Given the description of an element on the screen output the (x, y) to click on. 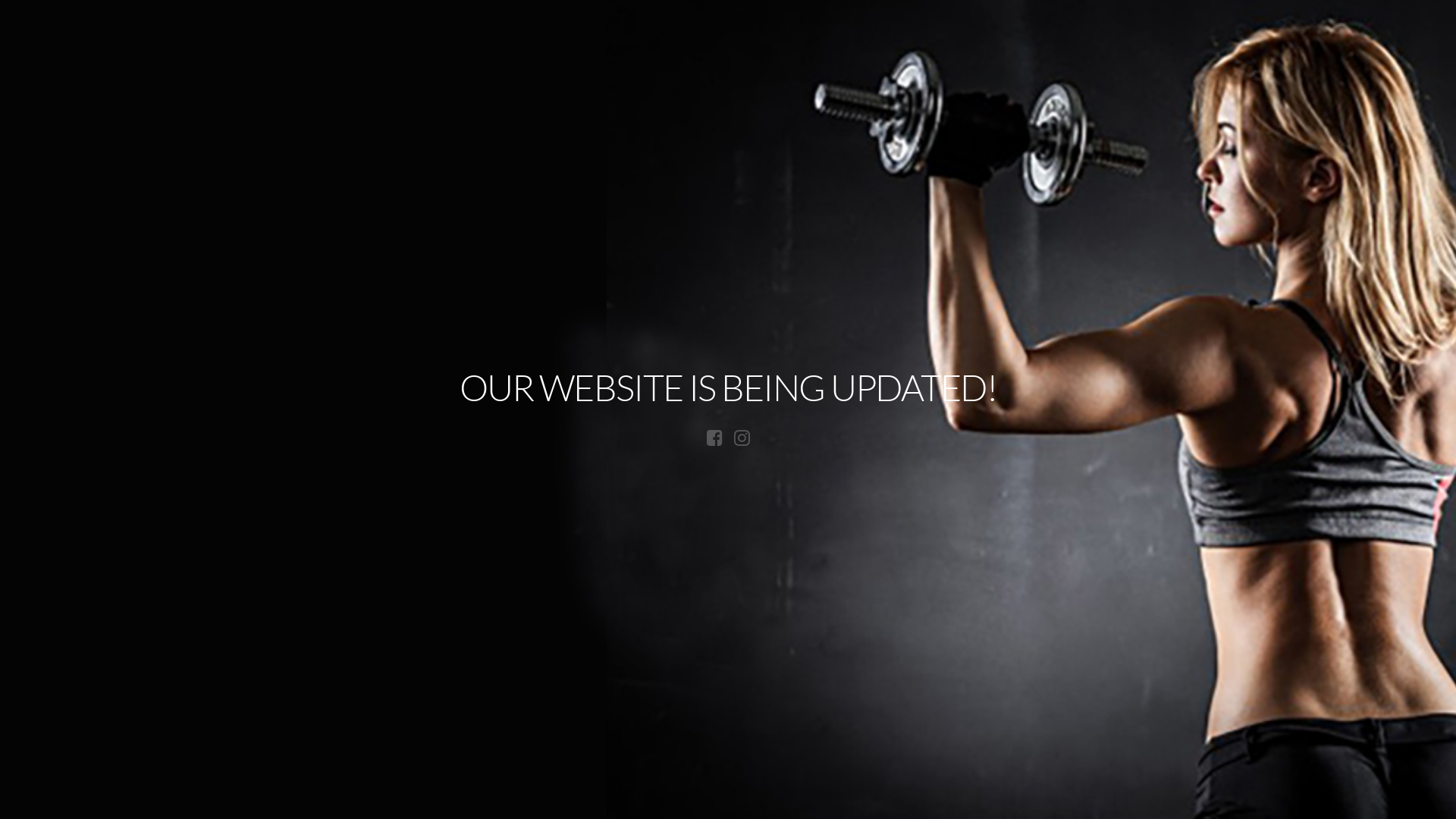
Instagram Element type: hover (741, 437)
Facebook Element type: hover (714, 437)
